Given the description of an element on the screen output the (x, y) to click on. 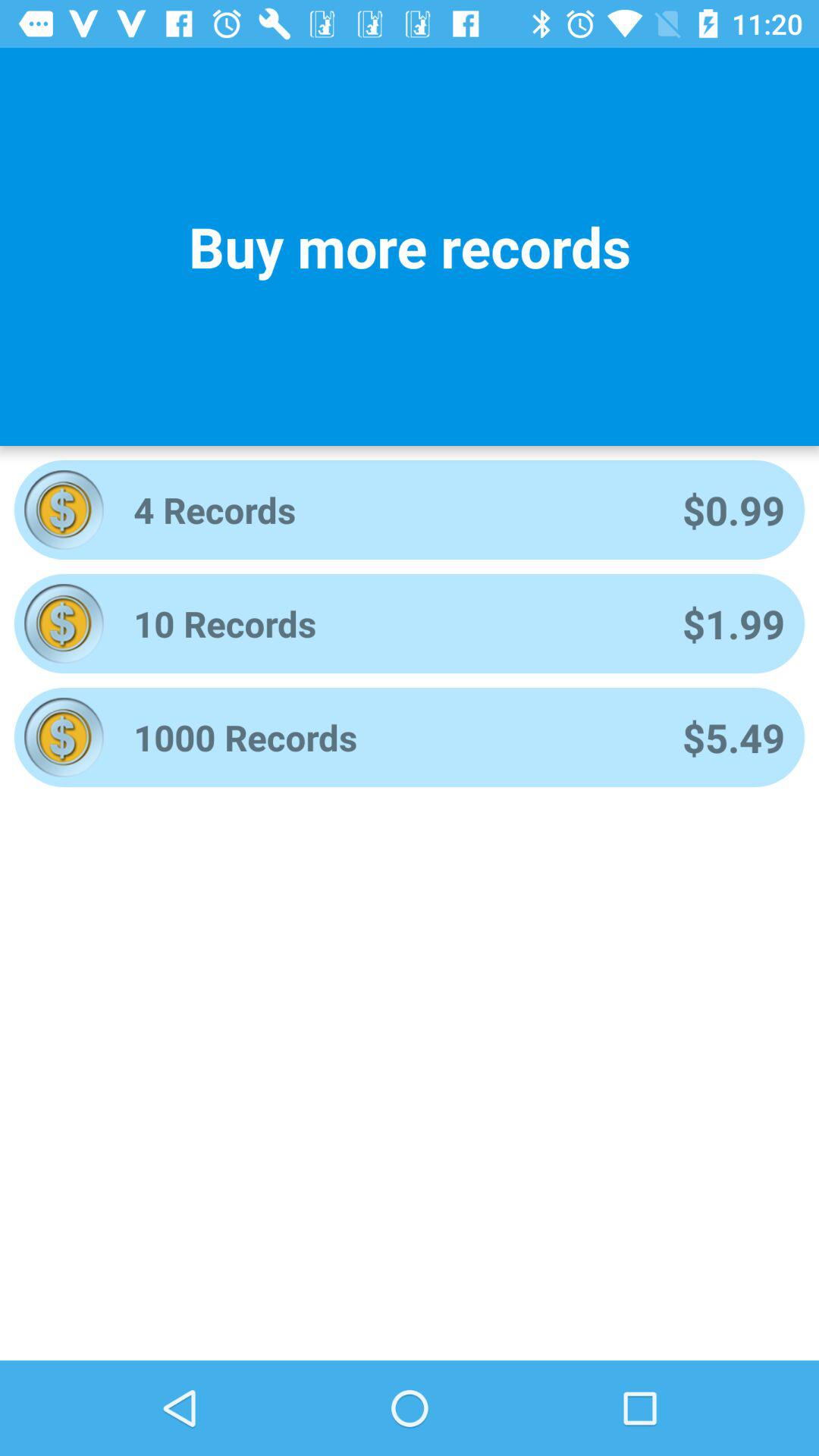
turn on the icon next to $0.99 item (387, 509)
